Given the description of an element on the screen output the (x, y) to click on. 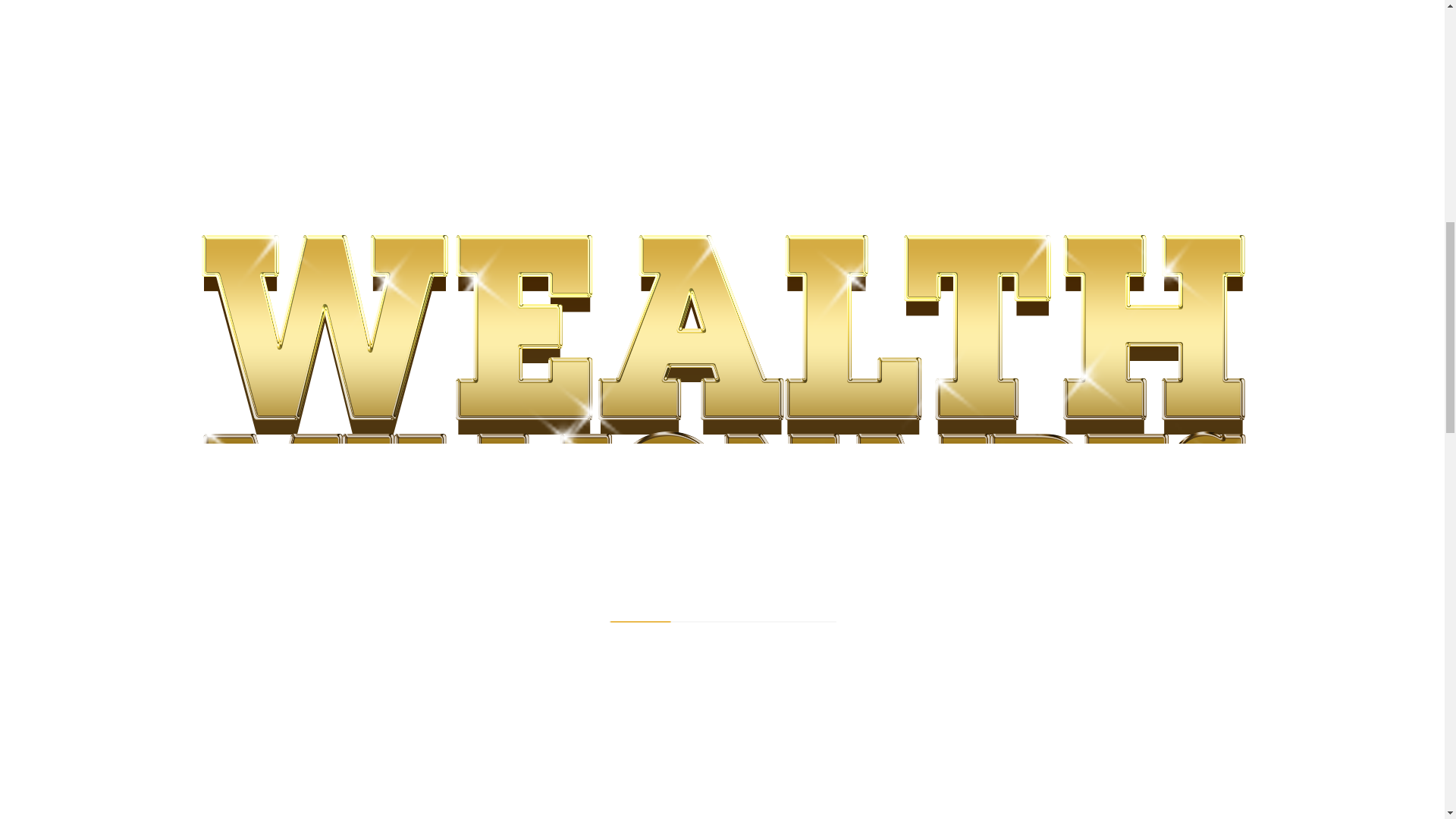
2 years ago (710, 624)
2 years ago (710, 713)
Miss Teen USA gives up title days after Miss USA resigned (472, 599)
3 months ago (434, 624)
2 years ago (430, 713)
2 years ago (430, 815)
